Given the description of an element on the screen output the (x, y) to click on. 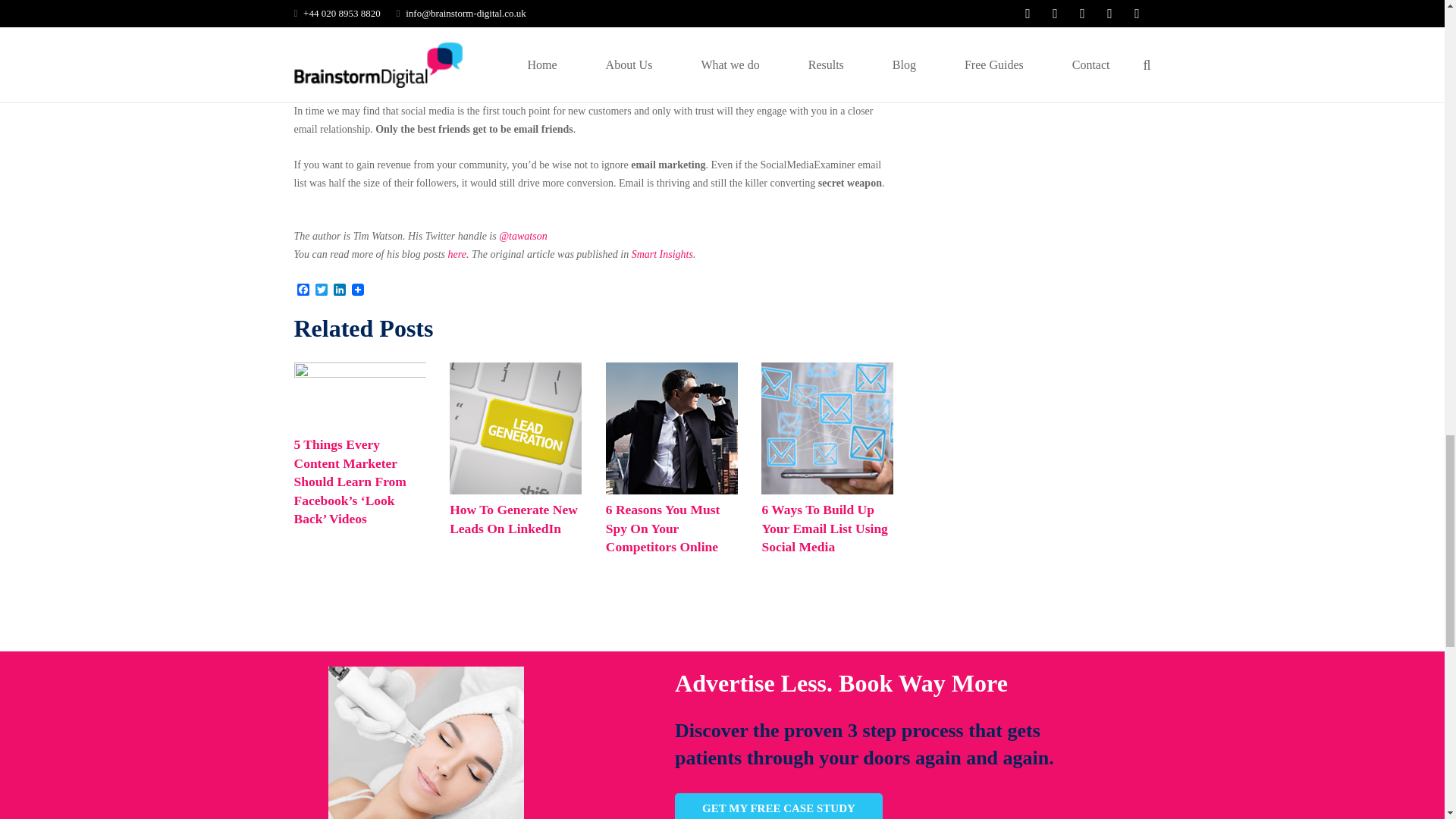
How to generate new leads on LinkedIn (514, 490)
Twitter (321, 290)
LinkedIn (339, 290)
Facebook (303, 290)
